Given the description of an element on the screen output the (x, y) to click on. 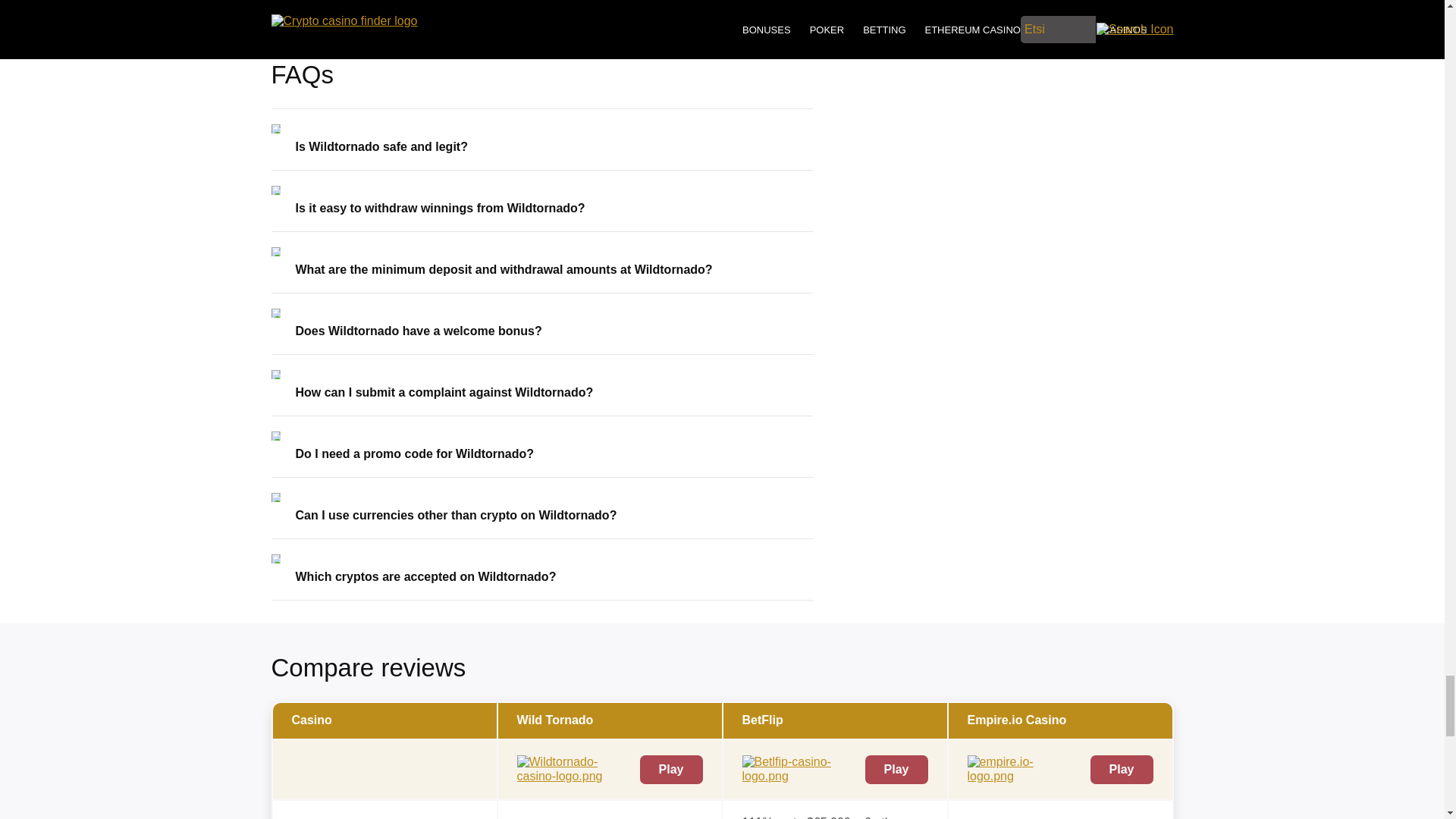
Play (1121, 769)
Play (671, 769)
Play (895, 769)
